Given the description of an element on the screen output the (x, y) to click on. 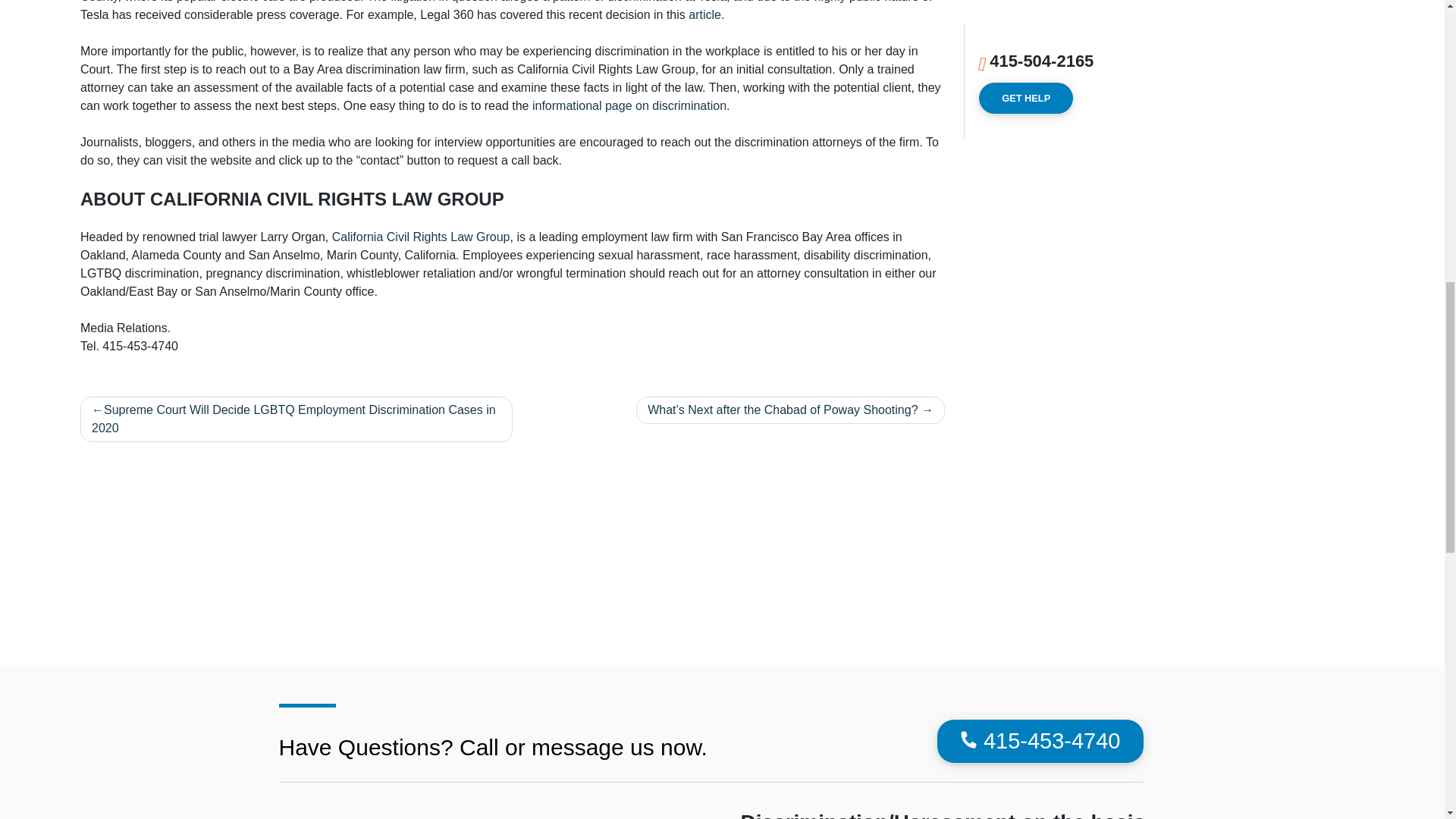
California Civil Rights Law Group (421, 236)
informational page on discrimination (629, 105)
article (704, 14)
415-453-4740 (1039, 741)
